Given the description of an element on the screen output the (x, y) to click on. 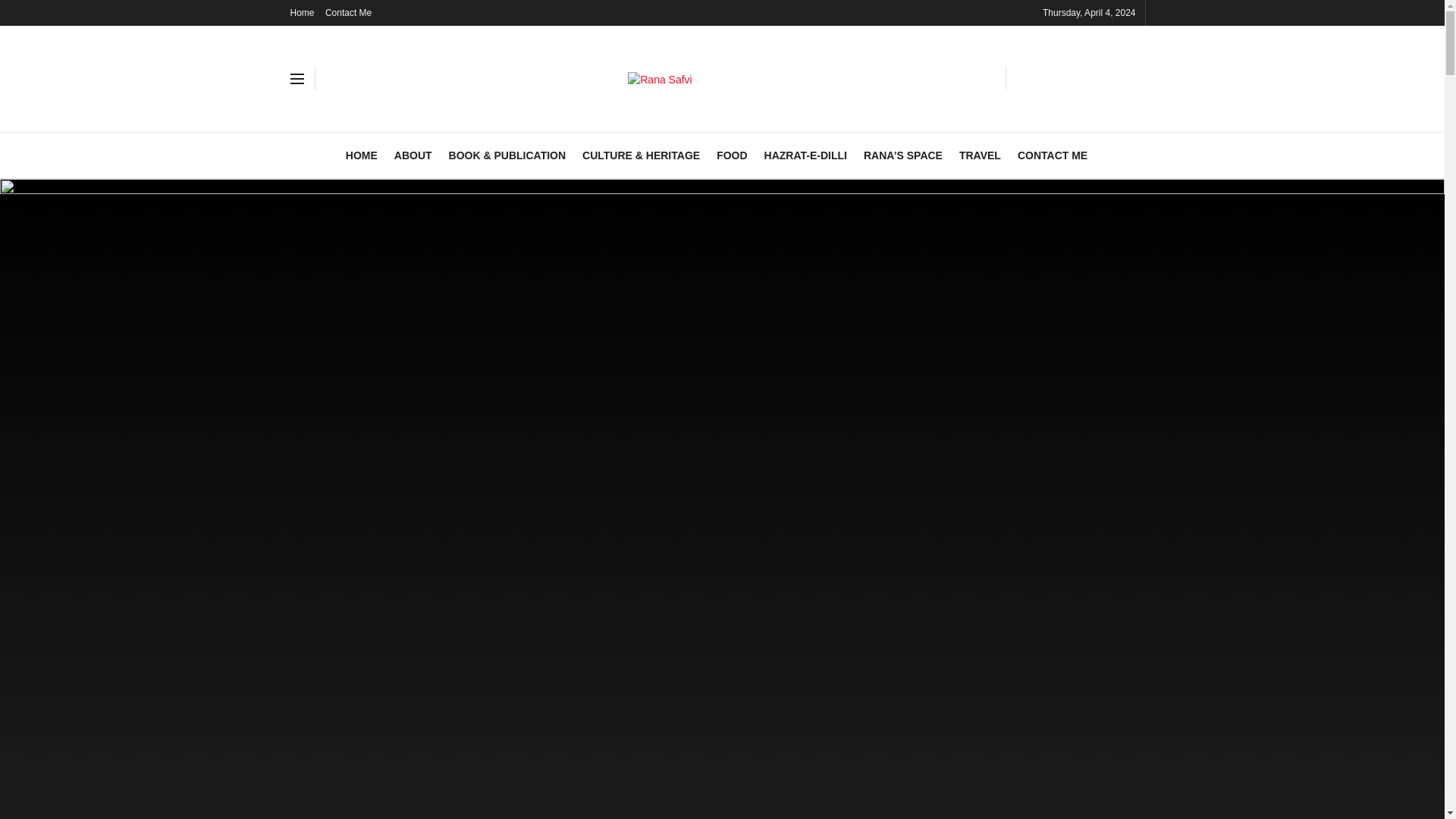
HOME (361, 155)
Home (301, 12)
HAZRAT-E-DILLI (805, 155)
FOOD (731, 155)
TRAVEL (980, 155)
ABOUT (413, 155)
Contact Me (347, 12)
